Given the description of an element on the screen output the (x, y) to click on. 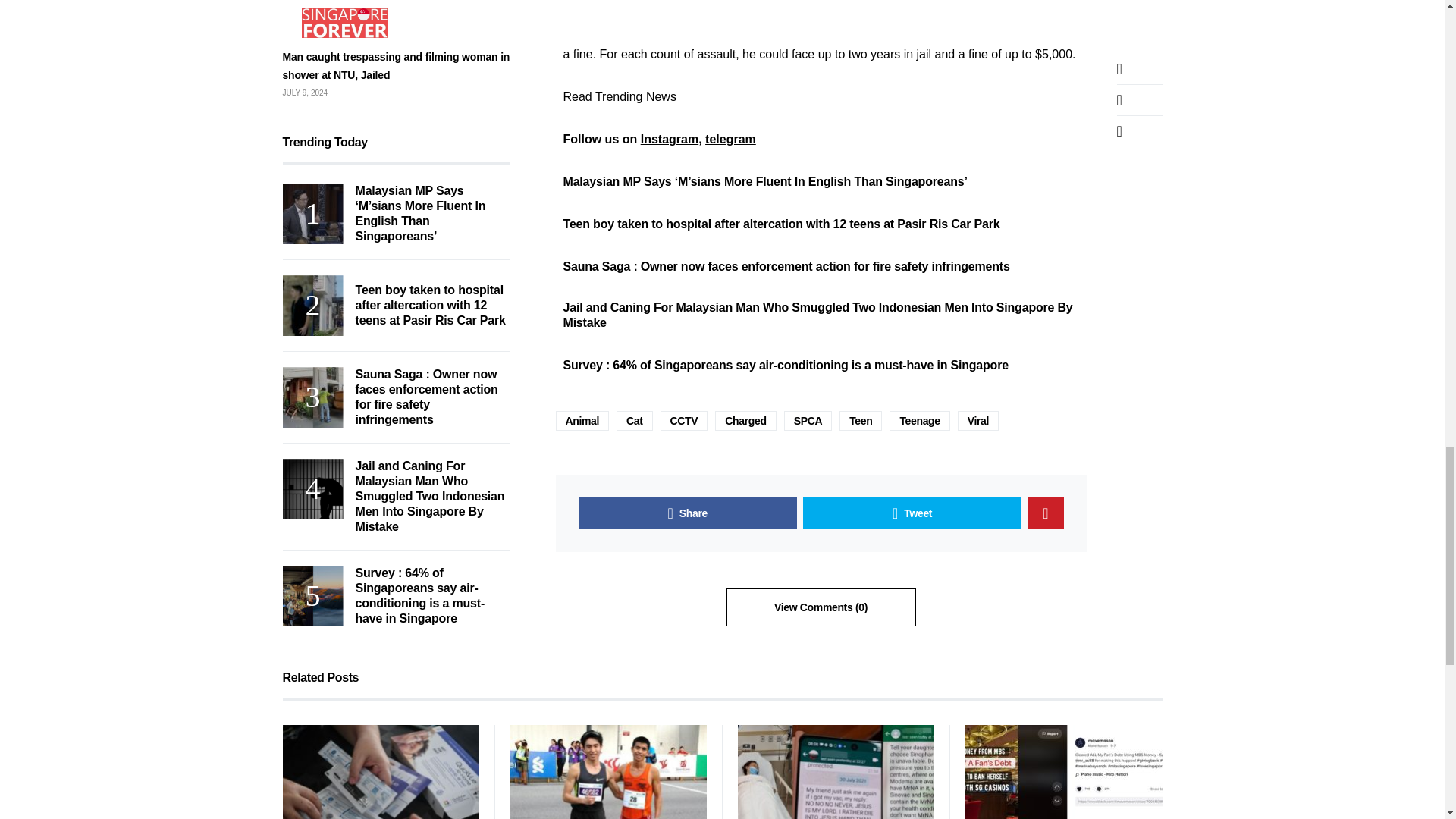
News (661, 96)
